Given the description of an element on the screen output the (x, y) to click on. 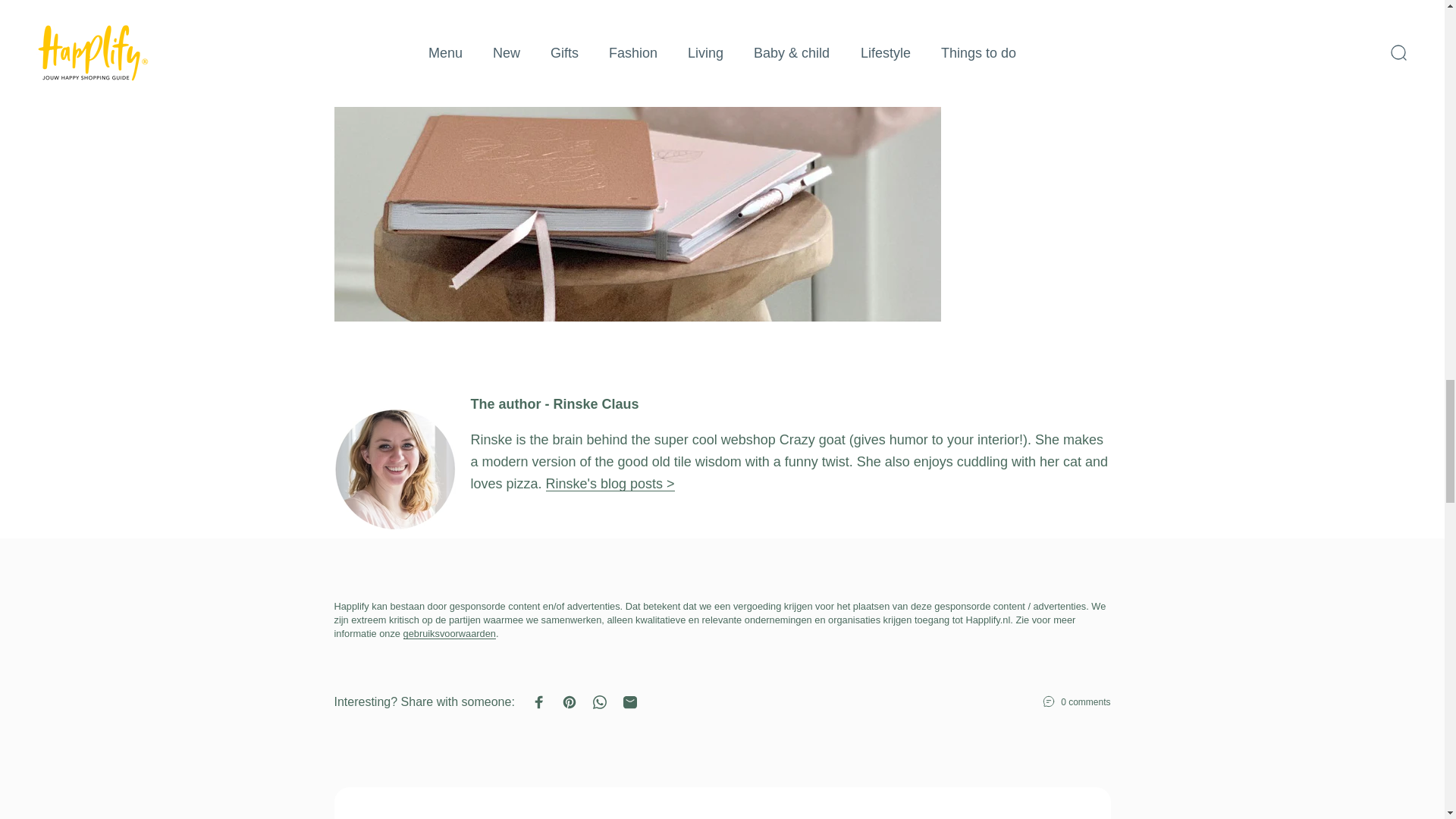
Share on Facebook (539, 702)
Pin on Pinterest (569, 702)
Share on WhatsApp (599, 702)
Share by Email (629, 702)
